Given the description of an element on the screen output the (x, y) to click on. 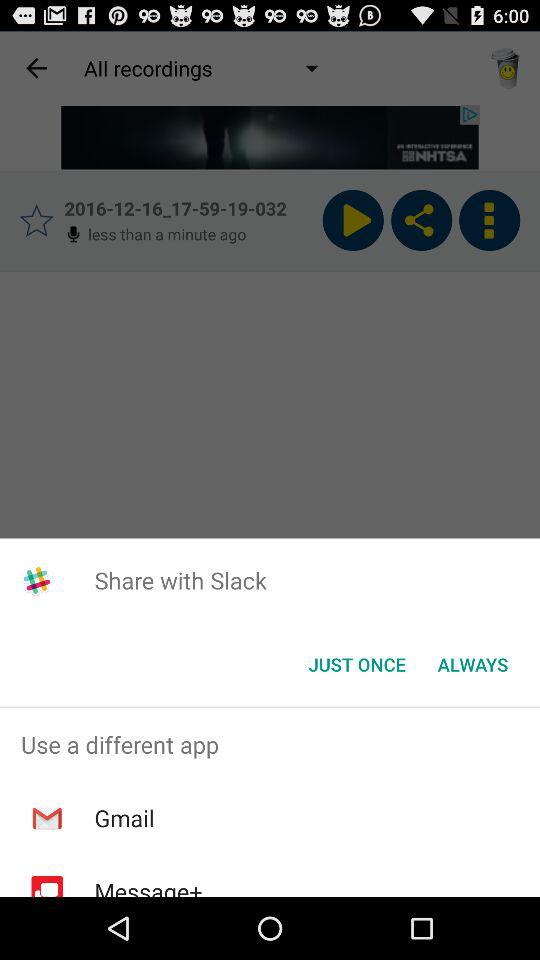
click the use a different (270, 744)
